Given the description of an element on the screen output the (x, y) to click on. 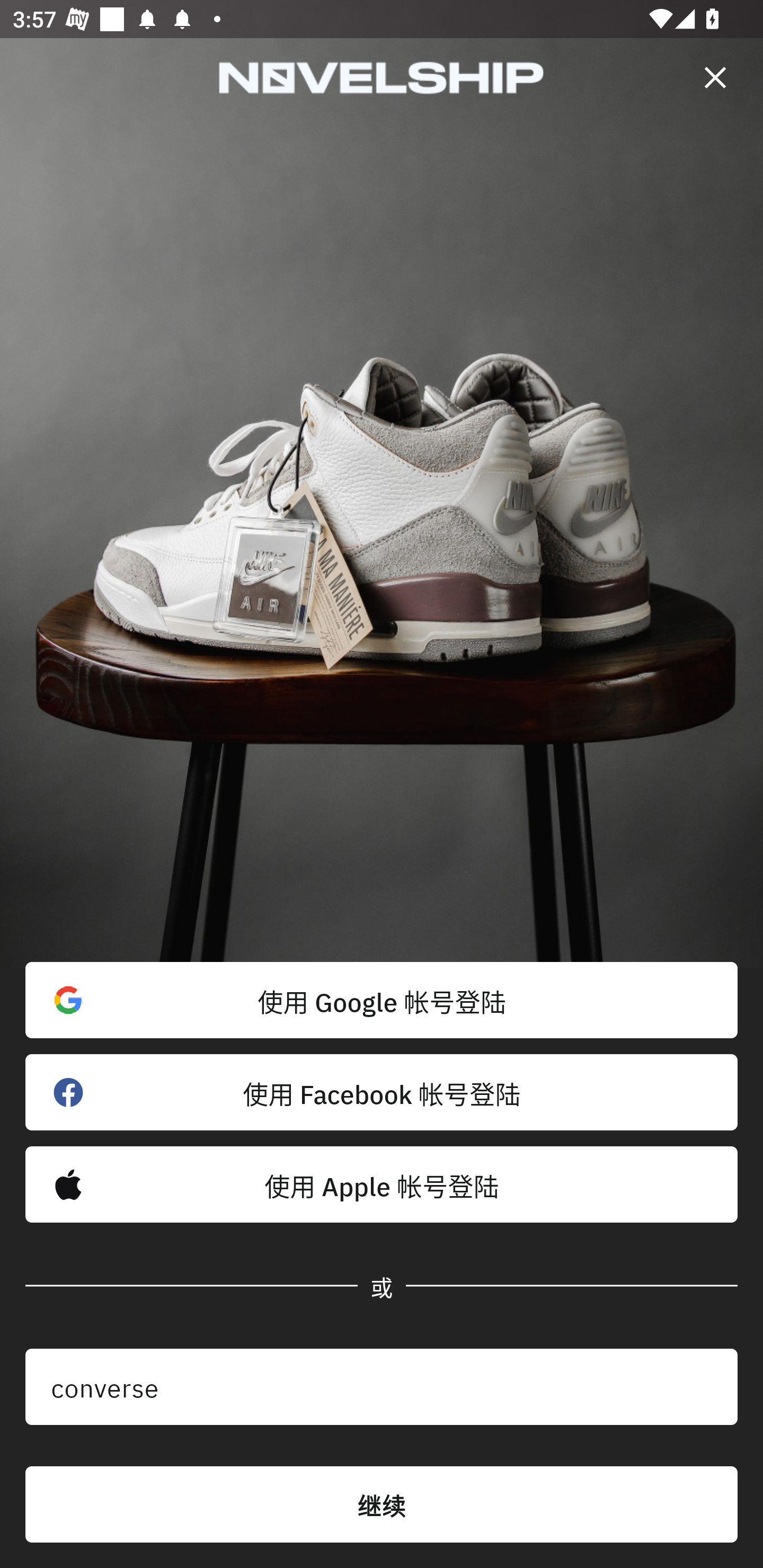
使用 Google 帐号登陆 (381, 1000)
使用 Facebook 帐号登陆 󰈌 (381, 1091)
 使用 Apple 帐号登陆 (381, 1184)
converse (381, 1386)
继续 (381, 1504)
